Given the description of an element on the screen output the (x, y) to click on. 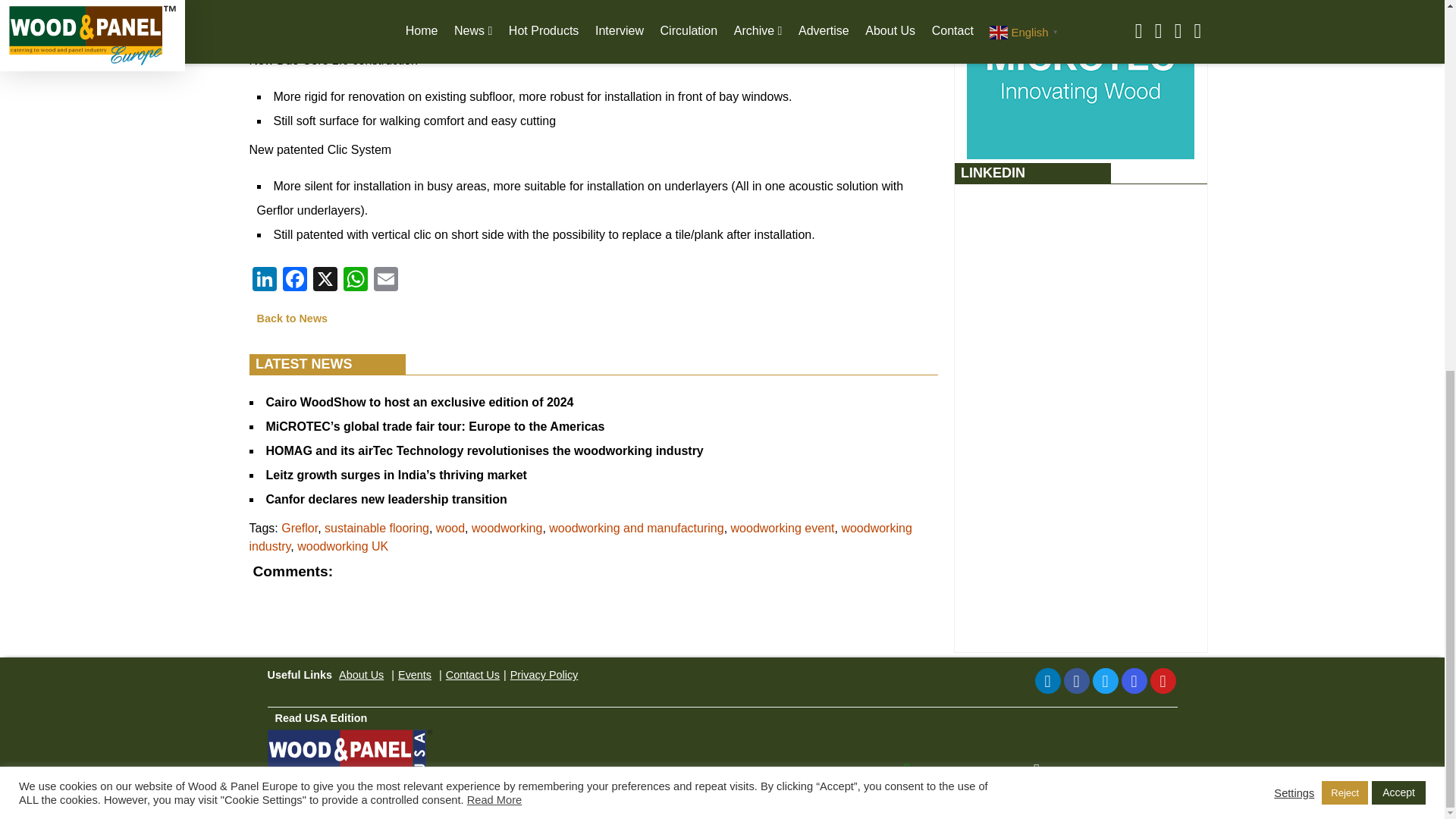
Facebook (1075, 680)
WhatsApp (354, 280)
X (323, 280)
LinkedIn (263, 280)
Facebook (293, 280)
LinkedIn (1046, 680)
Email (384, 280)
